Given the description of an element on the screen output the (x, y) to click on. 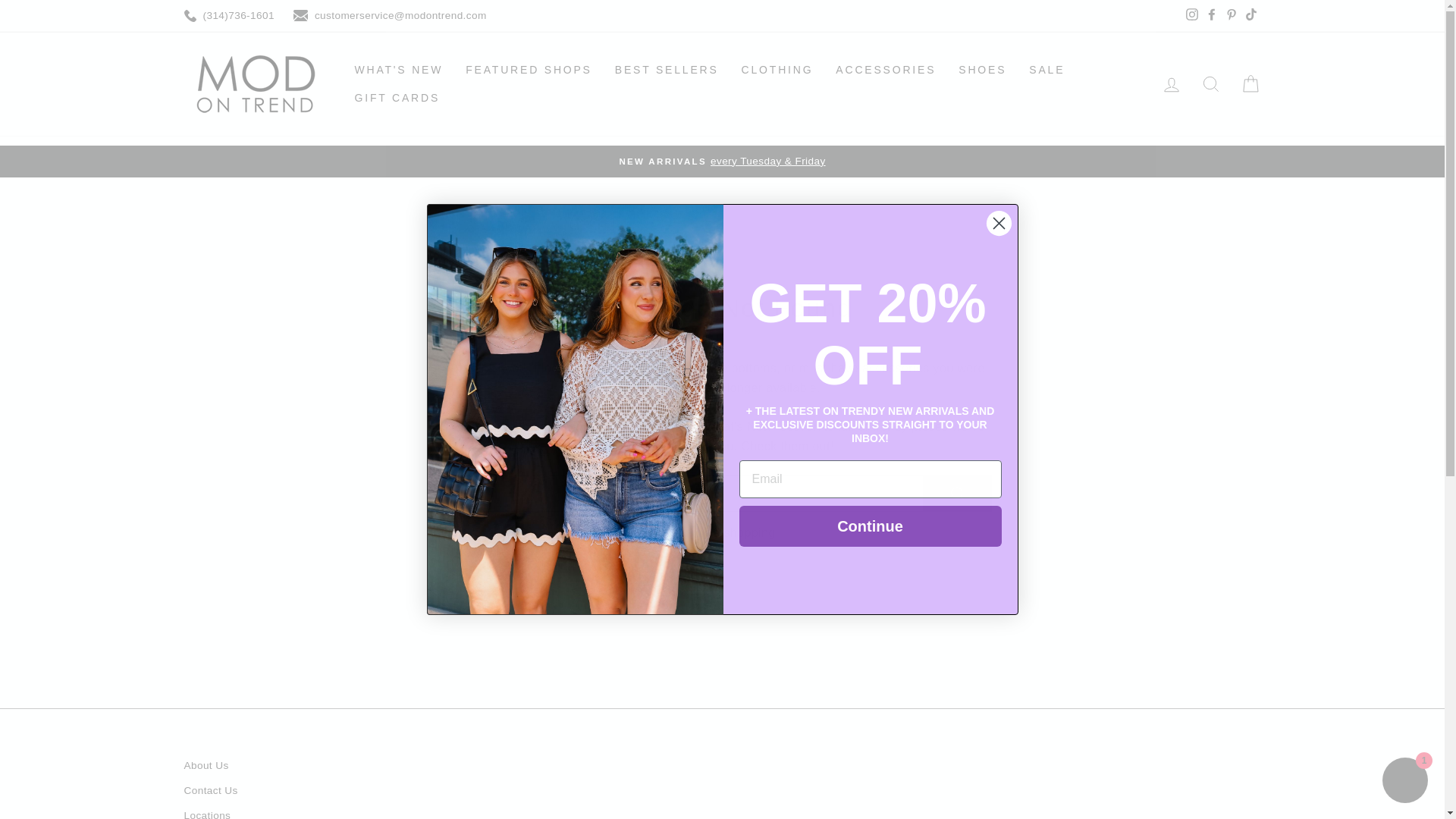
MOD ON TREND on TikTok (1250, 15)
MOD ON TREND on Instagram (1190, 15)
MOD ON TREND on Facebook (1211, 15)
MOD ON TREND on Pinterest (1230, 15)
